Given the description of an element on the screen output the (x, y) to click on. 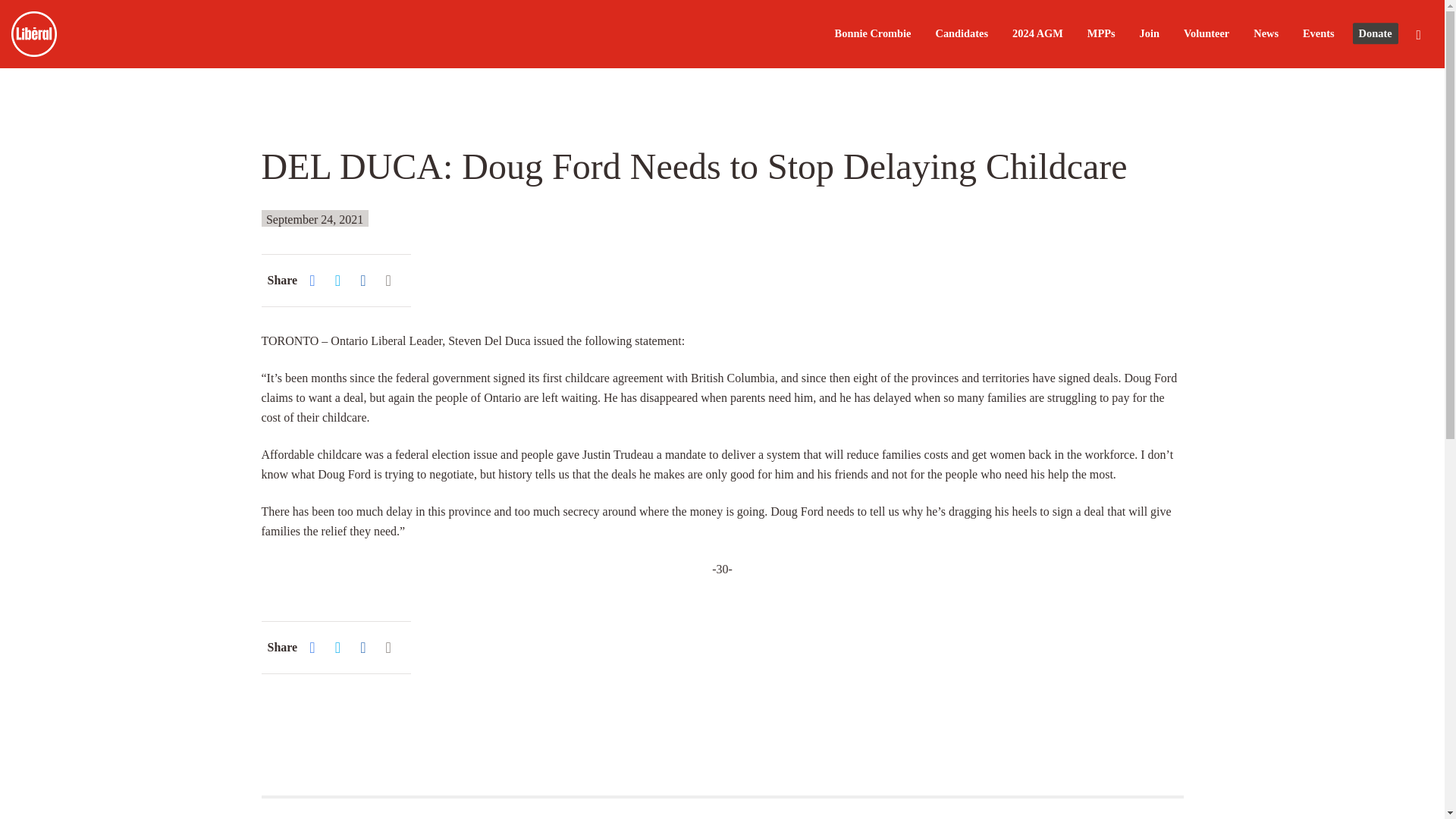
MPPs (1101, 33)
Candidates (961, 33)
Join (1149, 33)
News (1265, 33)
Volunteer (1205, 33)
Bonnie Crombie (872, 33)
Events (1319, 33)
2024 AGM (1036, 33)
Donate (1374, 34)
